Given the description of an element on the screen output the (x, y) to click on. 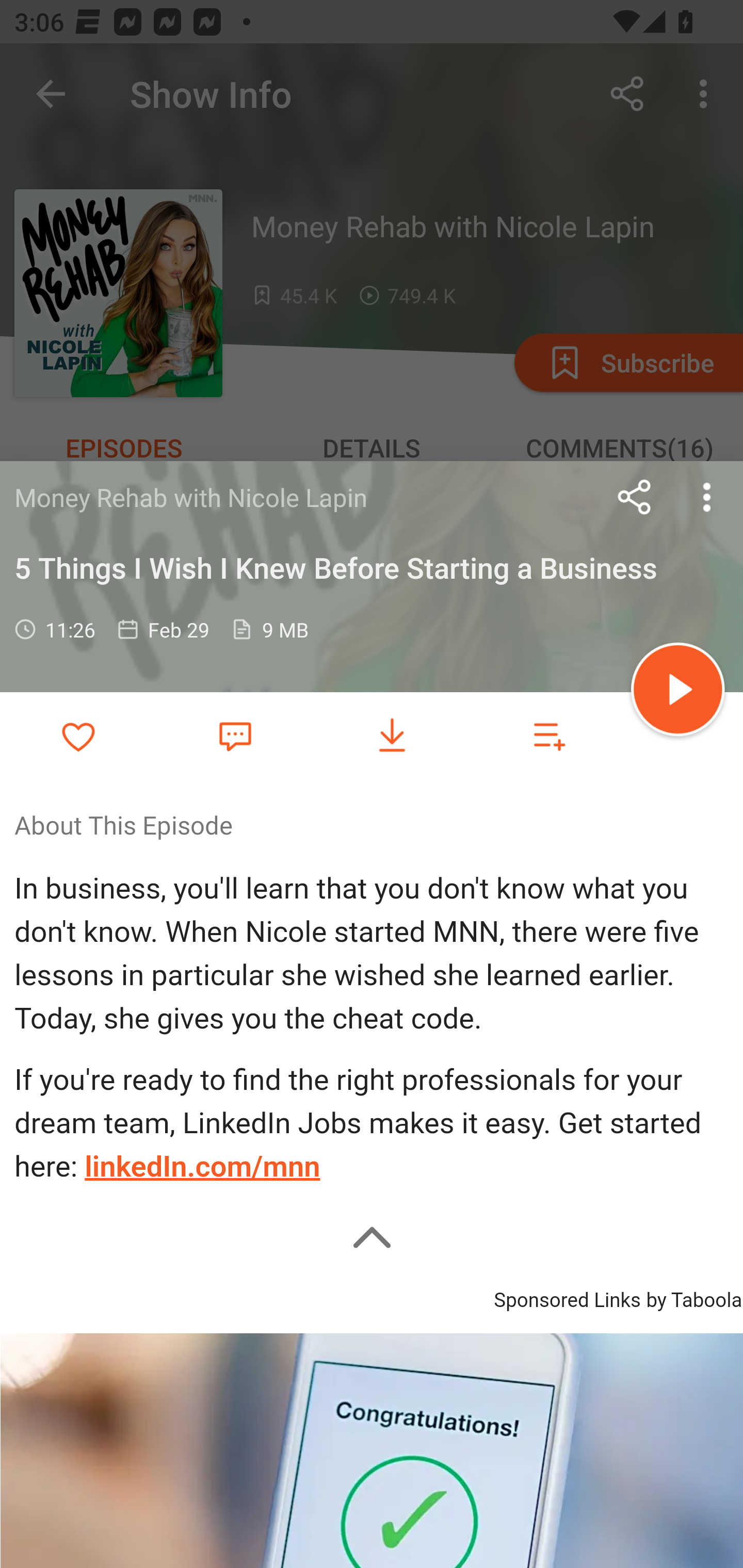
Share (634, 496)
more options (706, 496)
Play (677, 692)
Favorite (234, 735)
Add to Favorites (78, 735)
Download (391, 735)
Add to playlist (548, 735)
linkedIn.com/mnn (202, 1167)
Sponsored Links (566, 1295)
by Taboola (693, 1295)
